Given the description of an element on the screen output the (x, y) to click on. 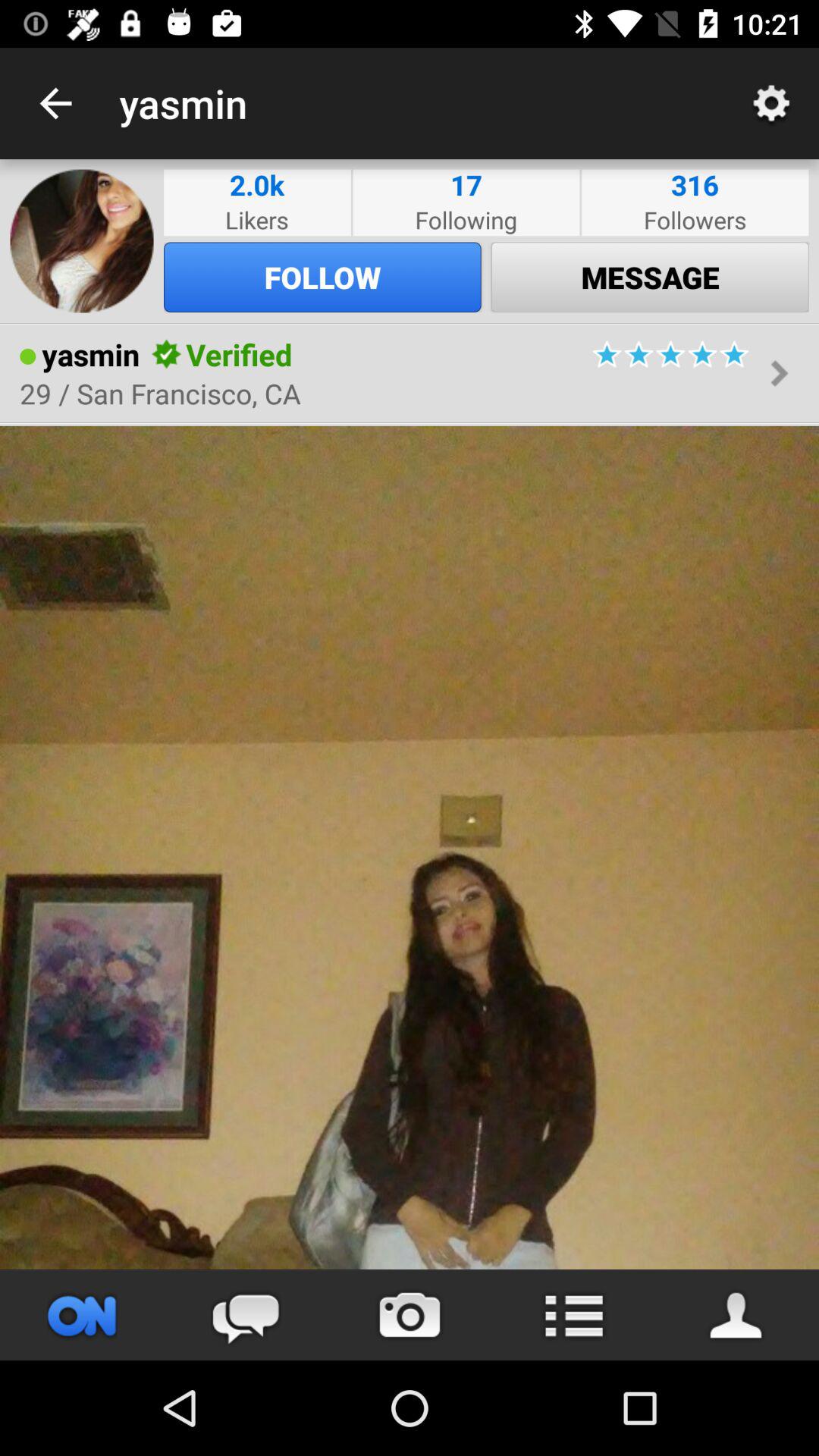
turn off icon next to follow item (81, 240)
